Given the description of an element on the screen output the (x, y) to click on. 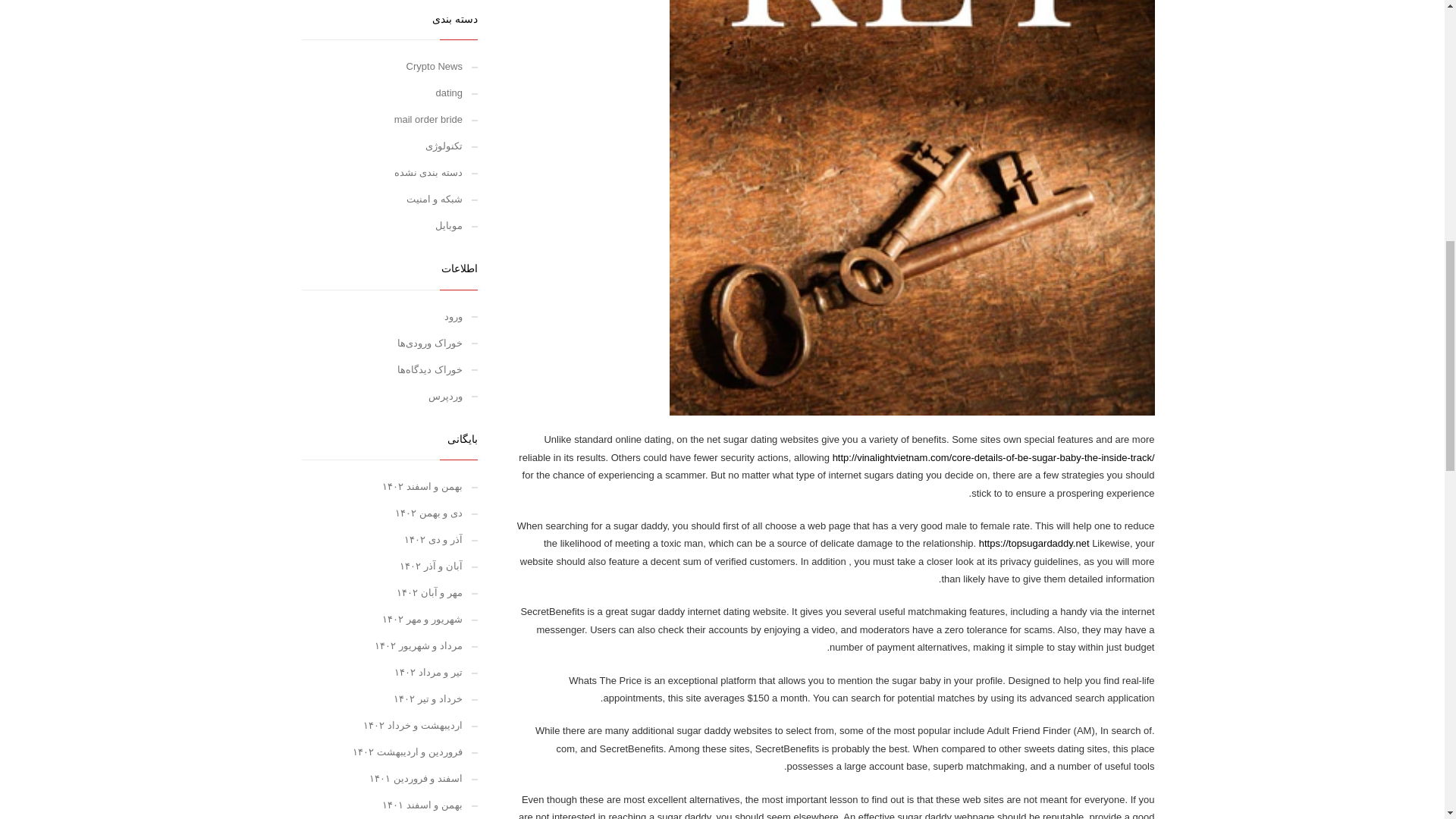
dating (390, 92)
mail order bride (390, 119)
Crypto News (390, 66)
